Given the description of an element on the screen output the (x, y) to click on. 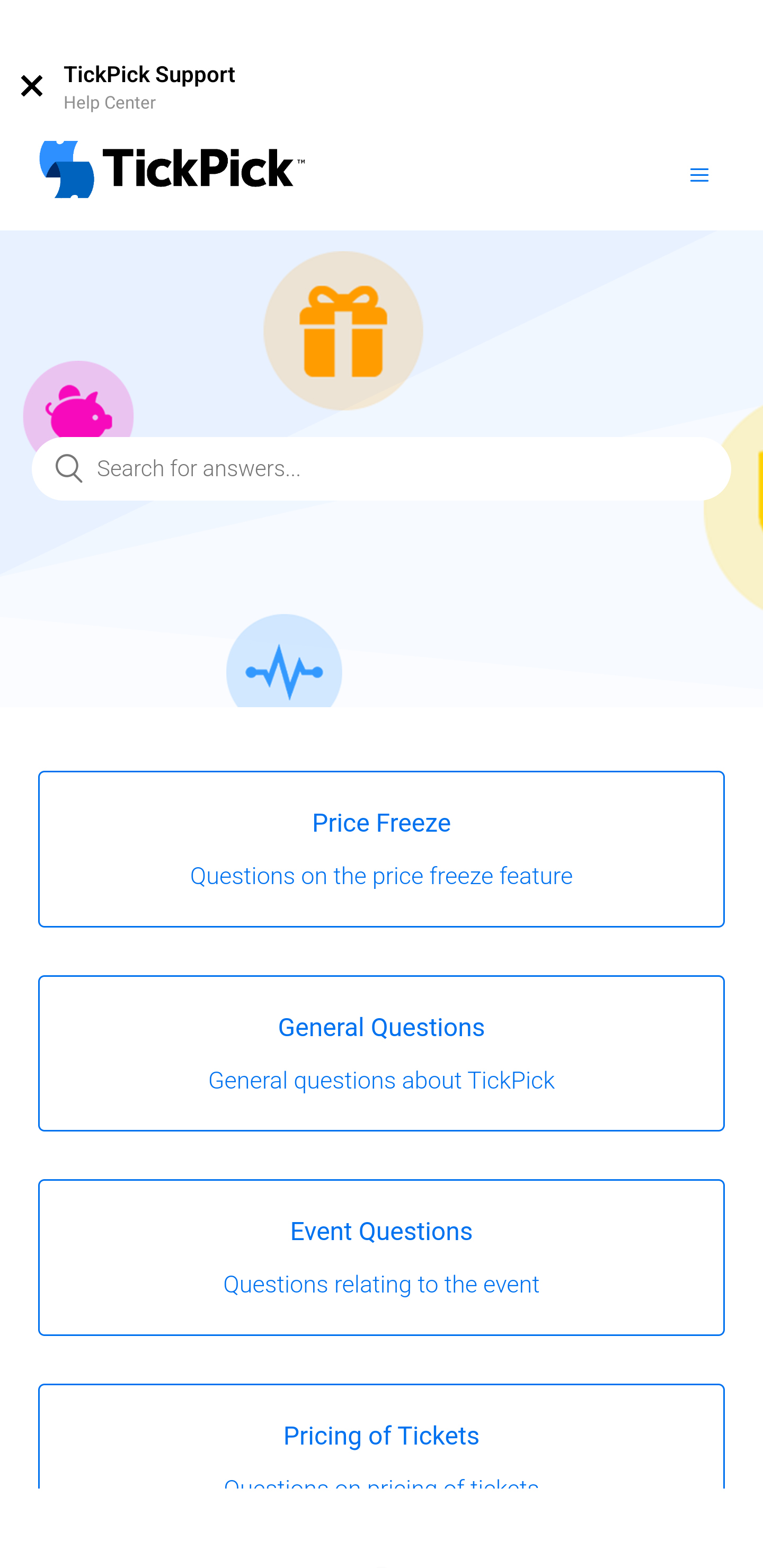
TickPick FAQ Help Center home page (171, 171)
Toggle navigation menu (698, 173)
